Given the description of an element on the screen output the (x, y) to click on. 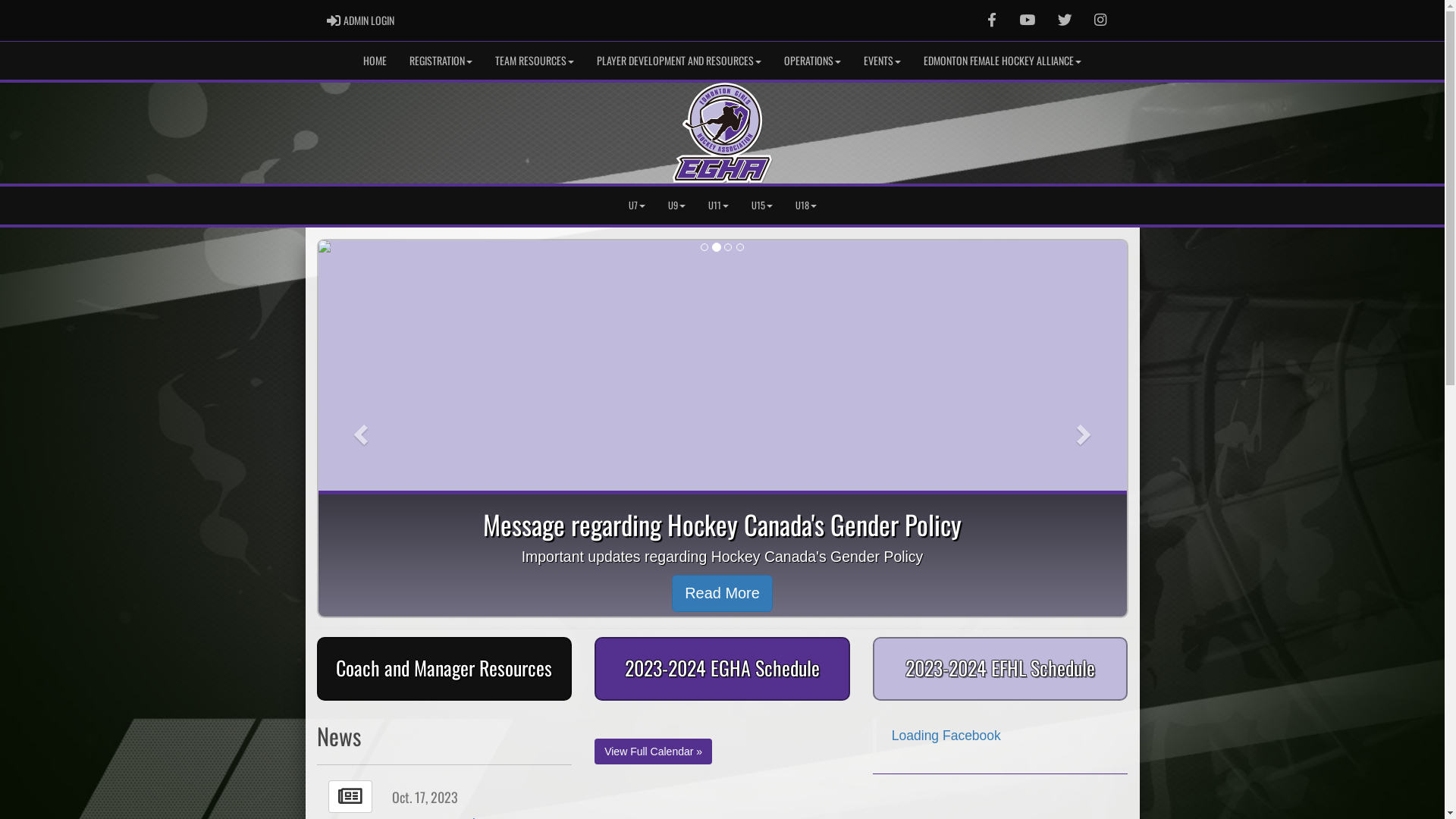
OPERATIONS Element type: text (812, 60)
Instagram Element type: text (1100, 20)
Previous Element type: text (358, 429)
Login Page Element type: hover (333, 20)
TEAM RESOURCES Element type: text (534, 60)
U18 Element type: text (806, 205)
Facebook Element type: text (991, 20)
U9 Element type: text (676, 205)
2023-2024 EFHL Schedule Element type: text (1000, 668)
like us Element type: hover (991, 19)
Coach and Manager Resources Element type: text (444, 668)
HOME Element type: text (374, 60)
LOGIN PAGE
 ADMIN LOGIN
ADMIN LOGIN Element type: text (360, 20)
watch Element type: hover (1027, 19)
PLAYER DEVELOPMENT AND RESOURCES Element type: text (678, 60)
EDMONTON FEMALE HOCKEY ALLIANCE Element type: text (1002, 60)
U11 Element type: text (717, 205)
REGISTRATION Element type: text (440, 60)
U7 Element type: text (636, 205)
2023-2024 EGHA Schedule Element type: text (722, 668)
EVENTS Element type: text (882, 60)
Twitter Element type: text (1065, 20)
Youtube Element type: text (1026, 20)
instagram Element type: hover (1100, 19)
Read More Element type: text (721, 592)
U15 Element type: text (762, 205)
follow us Element type: hover (1064, 19)
Loading Facebook Element type: text (946, 735)
Next Element type: text (1085, 429)
